Given the description of an element on the screen output the (x, y) to click on. 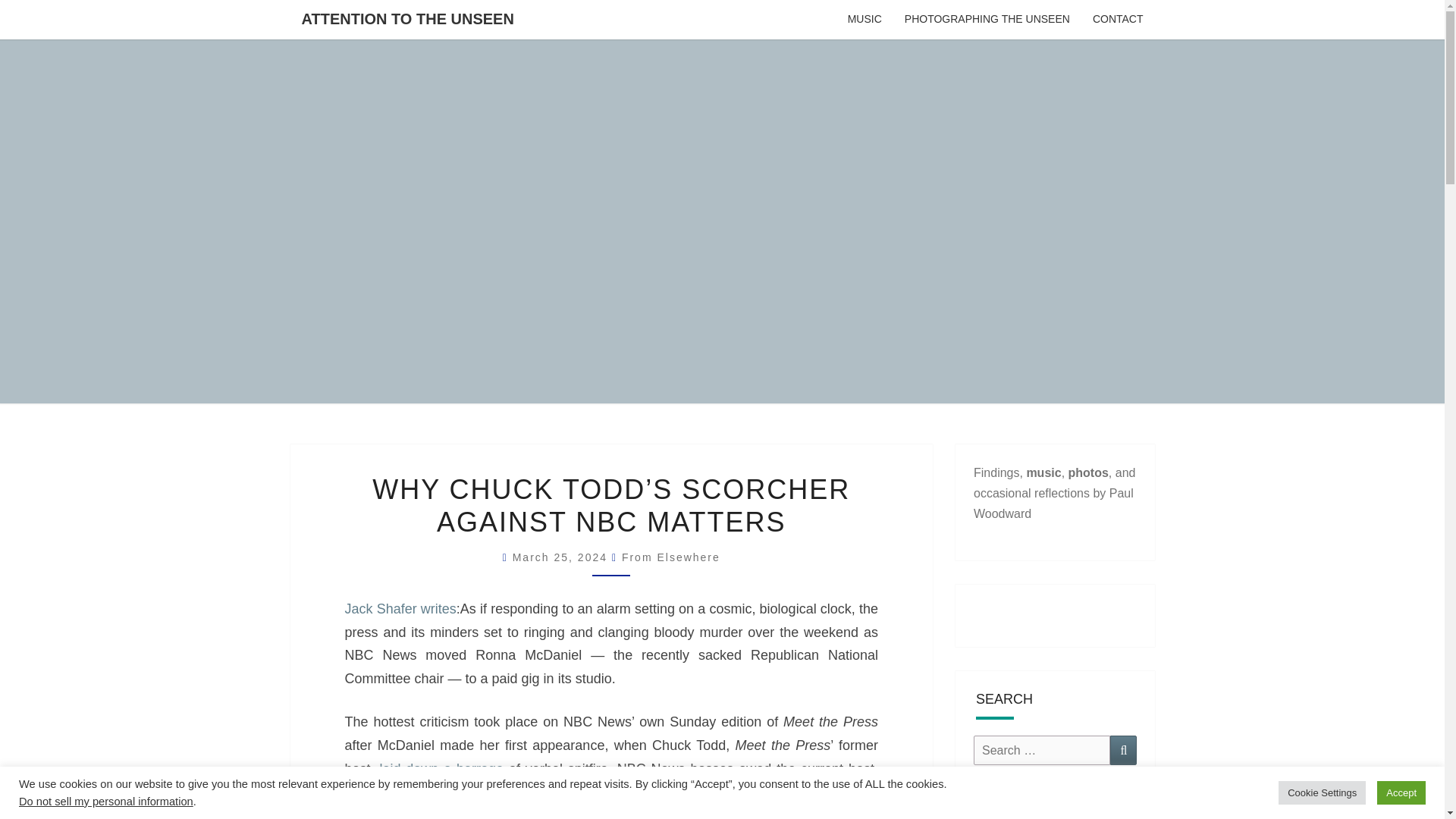
Search for: (1041, 749)
Search (1123, 749)
ATTENTION TO THE UNSEEN (406, 18)
MUSIC (864, 19)
March 25, 2024 (561, 557)
PHOTOGRAPHING THE UNSEEN (987, 19)
photos (1088, 472)
View all posts by From elsewhere (670, 557)
From Elsewhere (670, 557)
9:00 pm (561, 557)
laid down a barrage (440, 768)
music (1043, 472)
Jack Shafer writes (399, 608)
CONTACT (1117, 19)
